Given the description of an element on the screen output the (x, y) to click on. 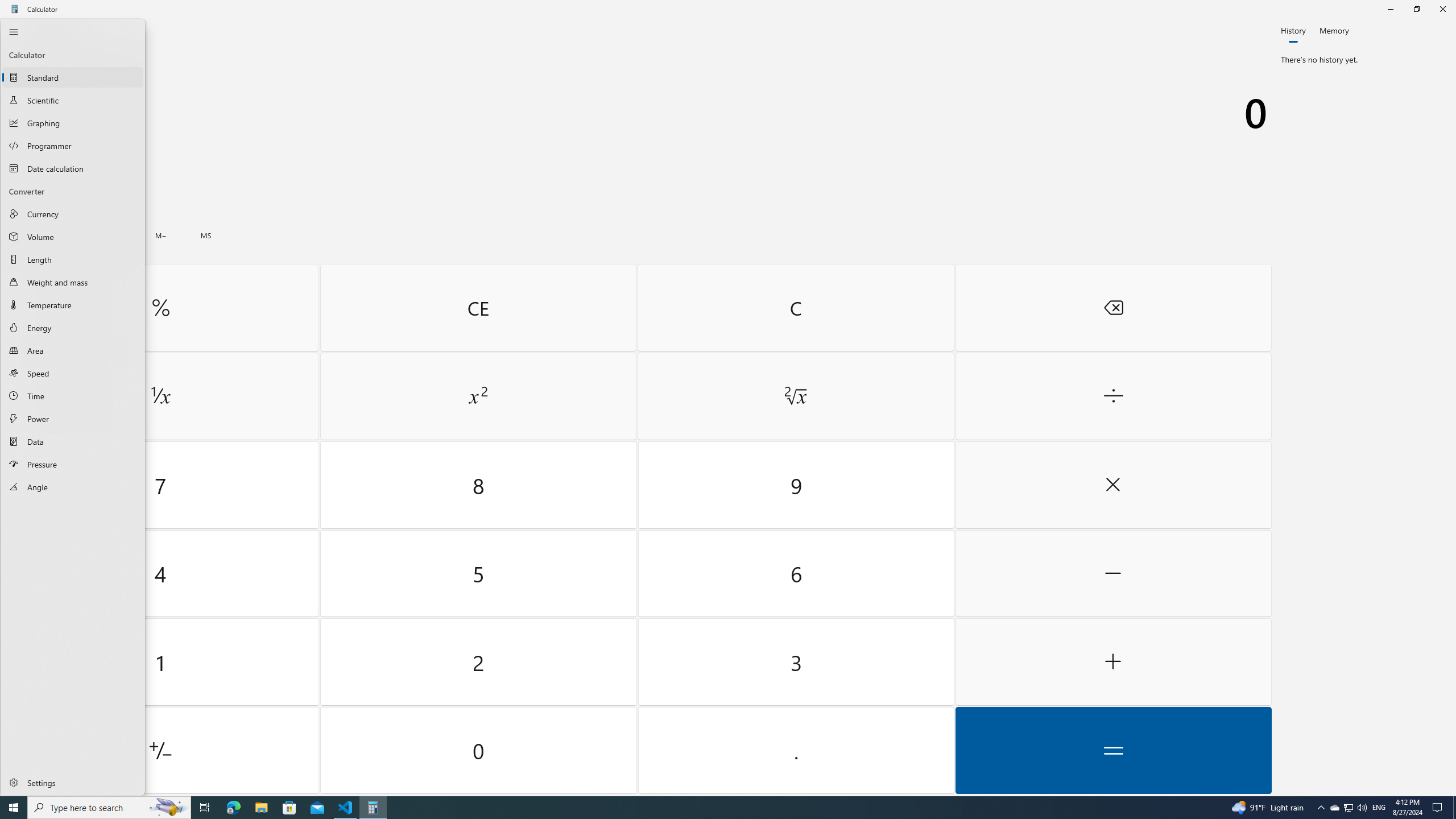
Restore Calculator (1416, 9)
Energy Converter (72, 327)
Time Converter (72, 395)
Minimize Calculator (1390, 9)
Date calculation Calculator (72, 168)
Data Converter (72, 440)
Settings (72, 782)
Running applications (706, 807)
Weight and mass Converter (72, 281)
